Given the description of an element on the screen output the (x, y) to click on. 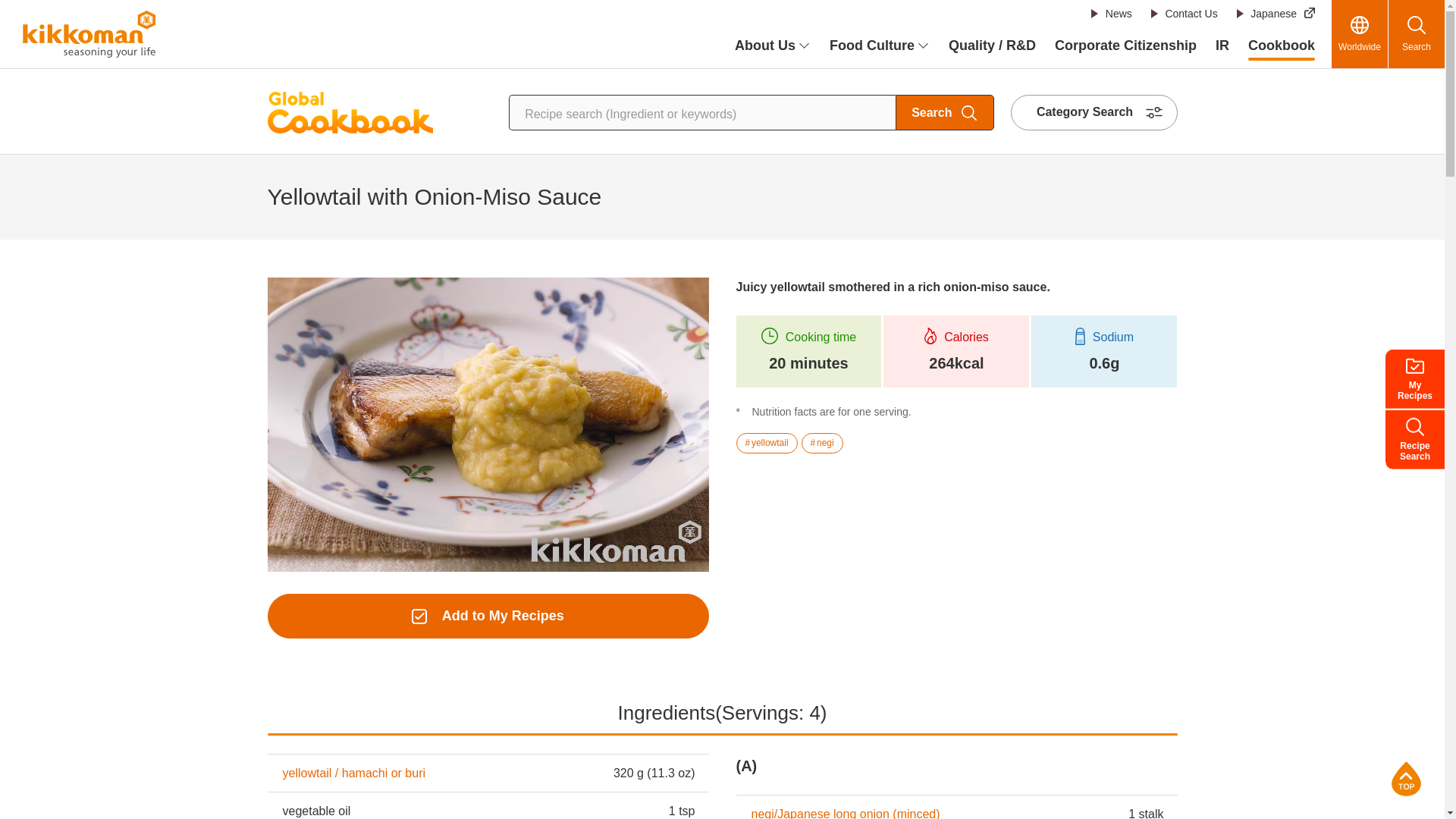
Contact Us (1183, 13)
About Us (772, 45)
Food Culture (879, 45)
Cookbook (1280, 45)
News (1111, 13)
Japanese (1275, 13)
Corporate Citizenship (1125, 45)
